Given the description of an element on the screen output the (x, y) to click on. 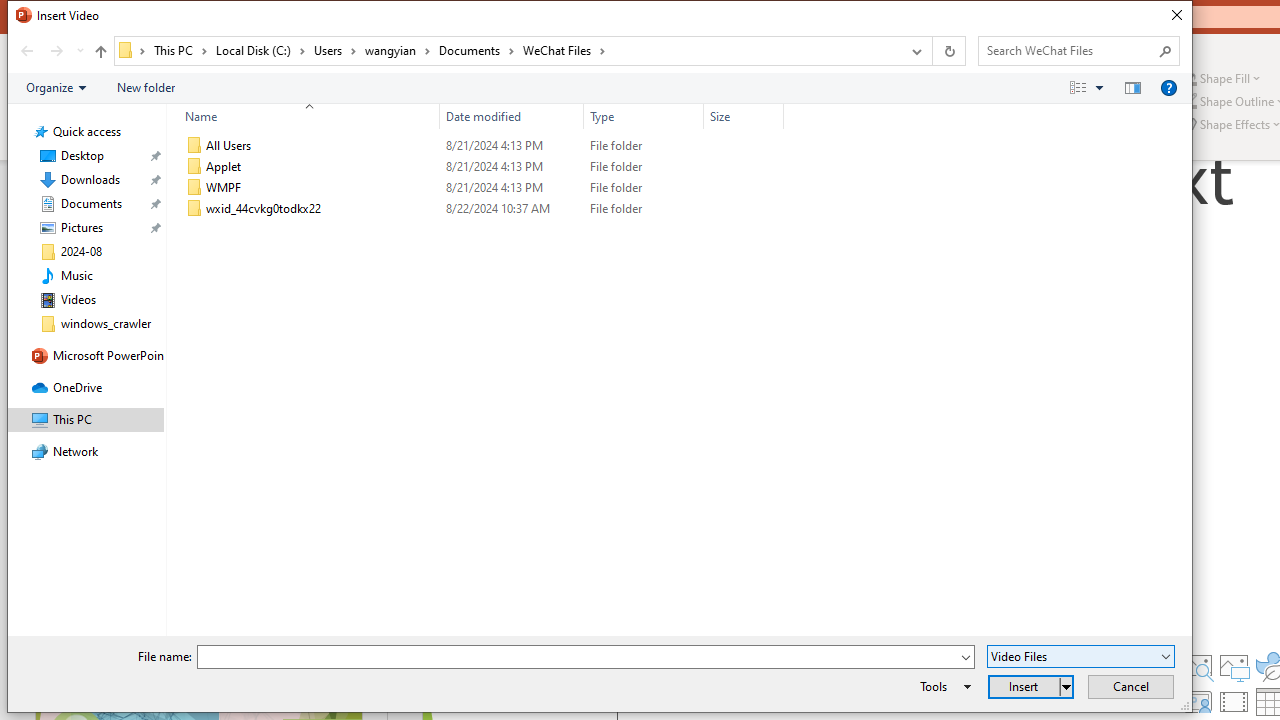
New folder (145, 87)
Tools (942, 686)
Class: UIImage (194, 209)
View Slider (1099, 87)
Views (1090, 87)
Up to "Documents" (Alt + Up Arrow) (100, 52)
Type (643, 209)
Size (743, 209)
wxid_44cvkg0todkx22 (480, 209)
Applet (480, 166)
